Given the description of an element on the screen output the (x, y) to click on. 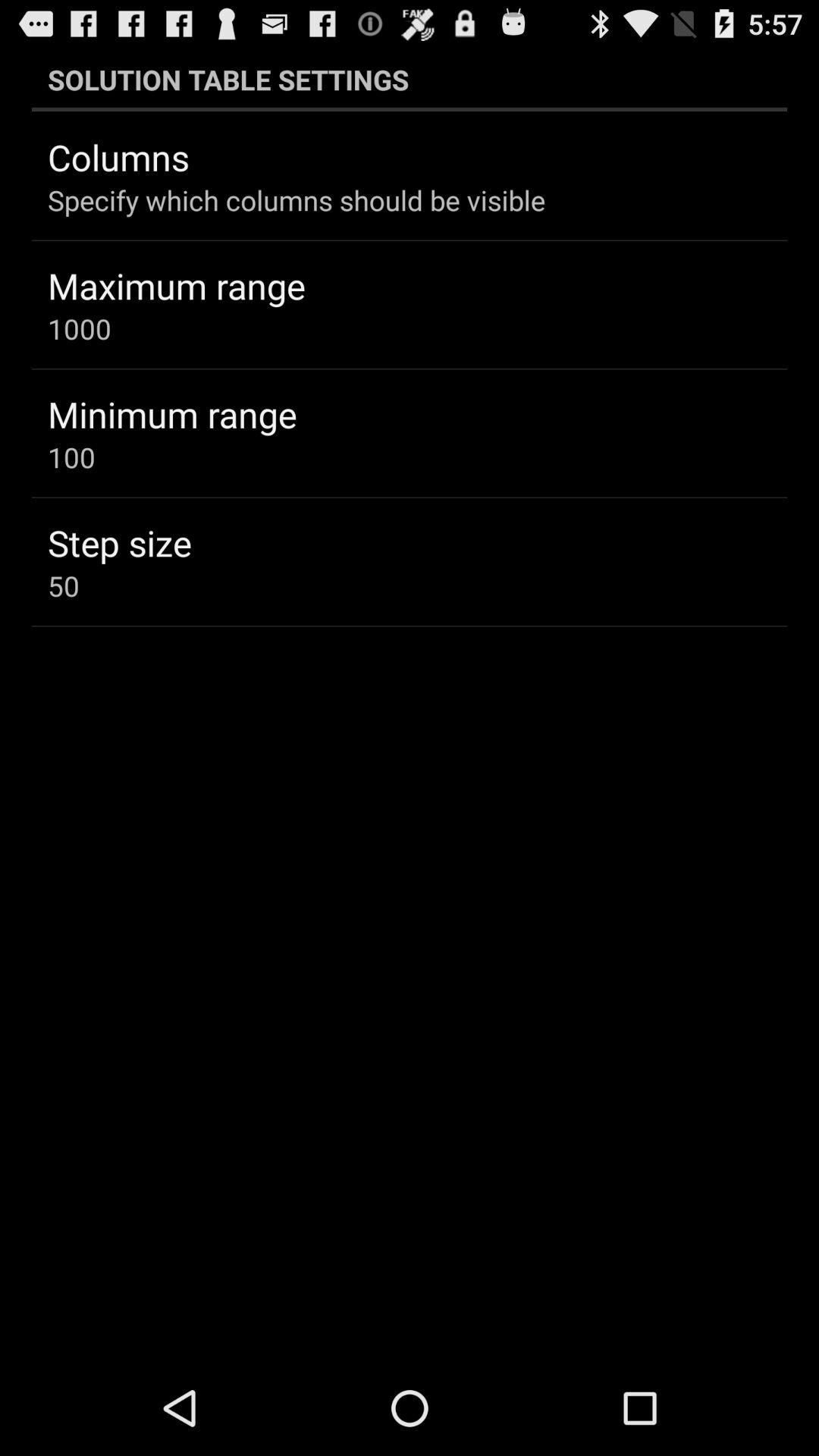
open icon below the columns item (296, 199)
